Given the description of an element on the screen output the (x, y) to click on. 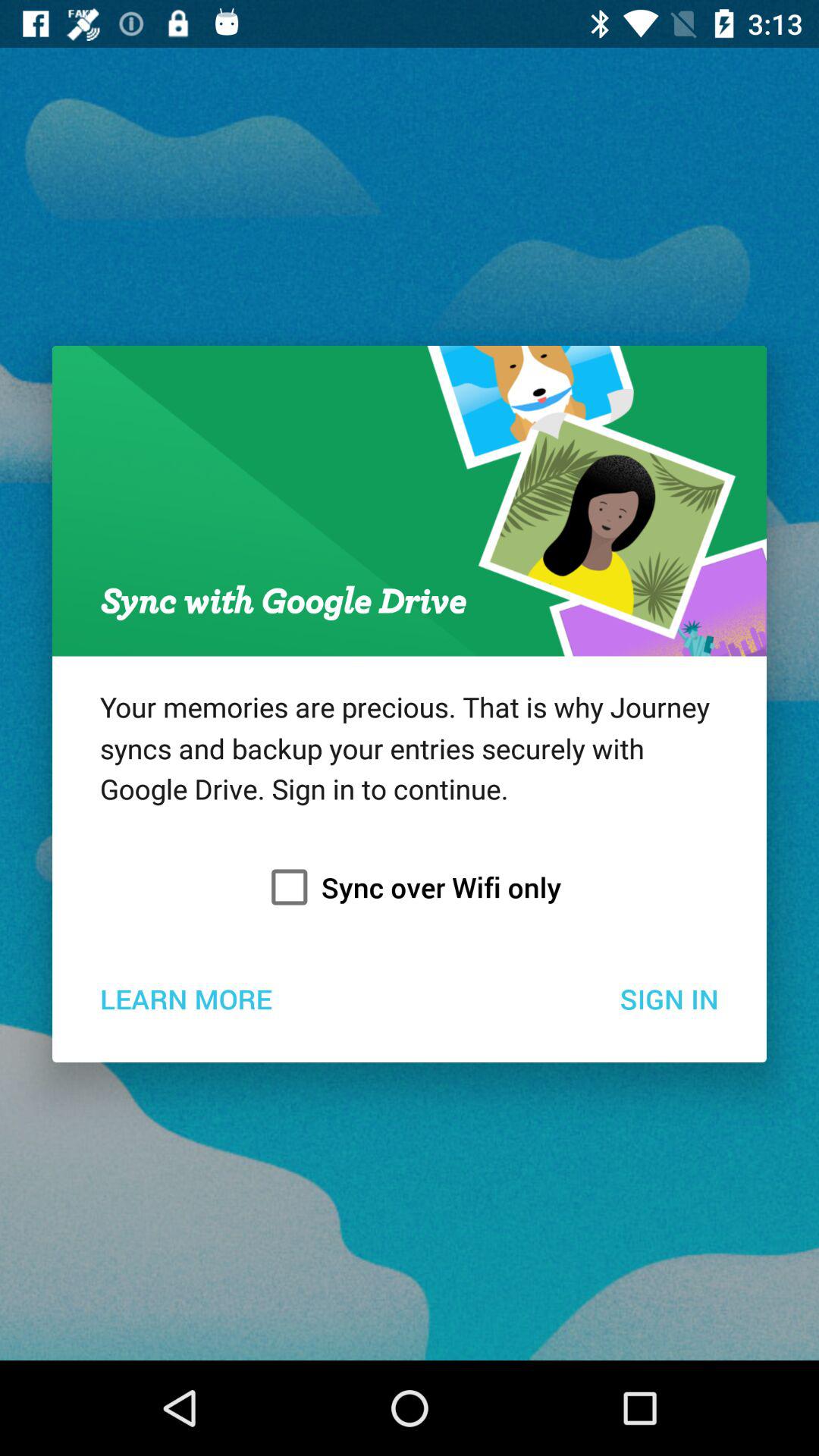
flip until sync over wifi (409, 887)
